Given the description of an element on the screen output the (x, y) to click on. 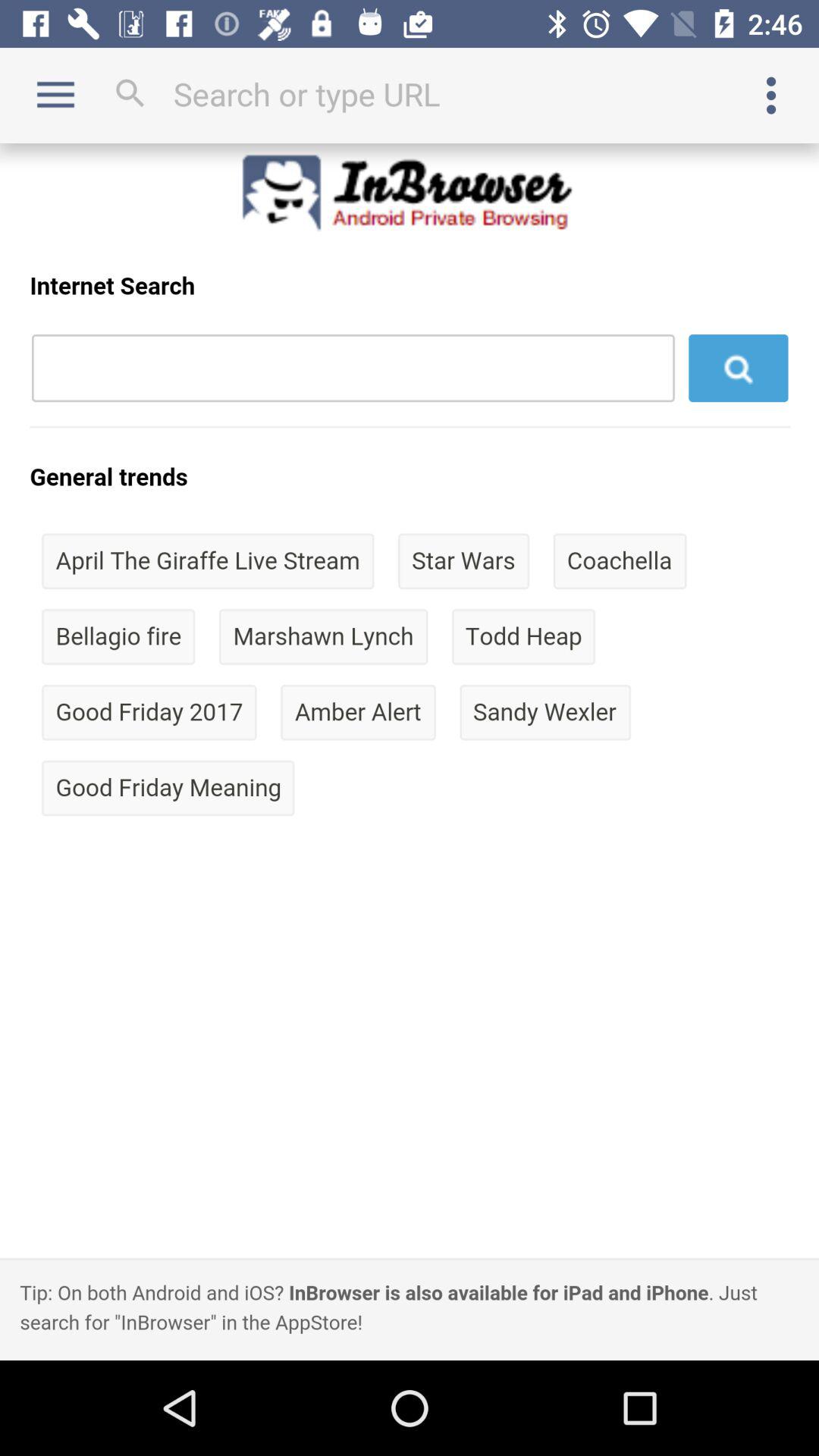
view browser settings (771, 95)
